Given the description of an element on the screen output the (x, y) to click on. 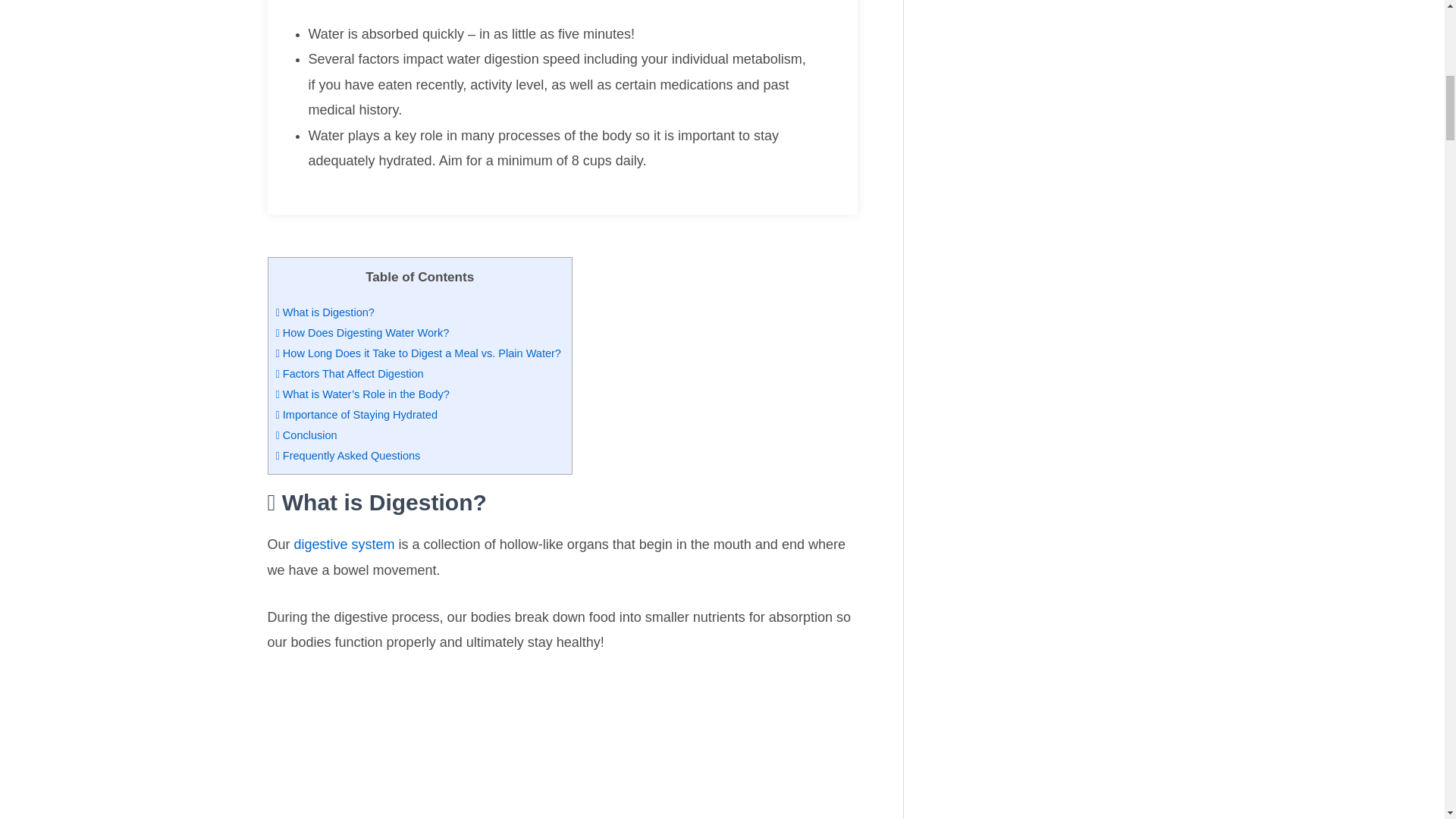
Digital art styled food (561, 748)
